Given the description of an element on the screen output the (x, y) to click on. 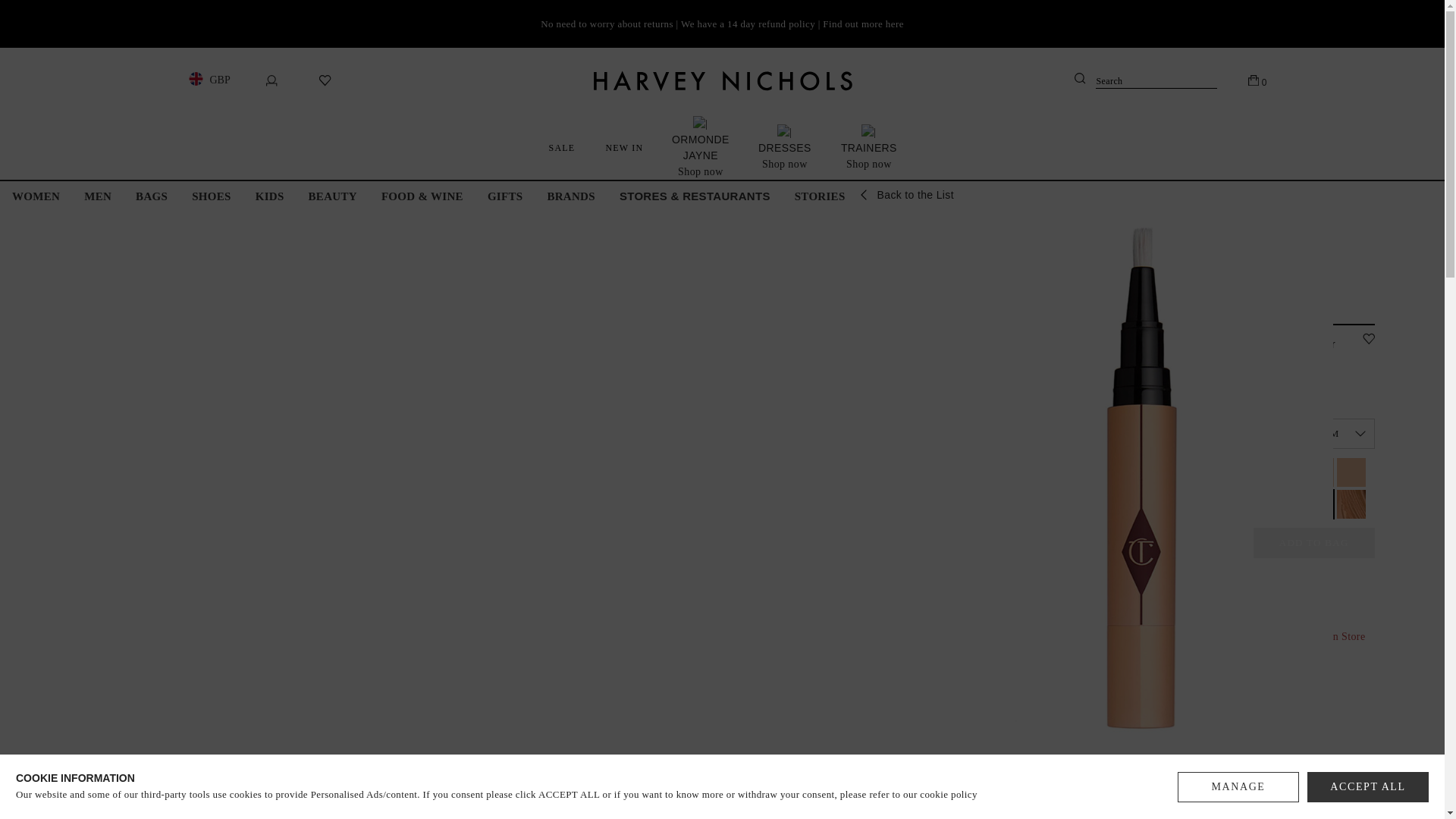
SALE (562, 147)
7 DEEP MEDIUM (1319, 504)
5 MEDIUM (1254, 503)
9 DARK (1222, 471)
3 MEDIUM (1350, 471)
6 MEDIUM (1286, 503)
Add to Bag (1313, 542)
4 MEDIUM (1222, 503)
Search (1145, 79)
GBP (206, 79)
8 DEEP MEDIUM (1350, 503)
2 FAIR (1318, 471)
10 DARK (1254, 471)
0 (1257, 79)
1 FAIR (1286, 471)
